Given the description of an element on the screen output the (x, y) to click on. 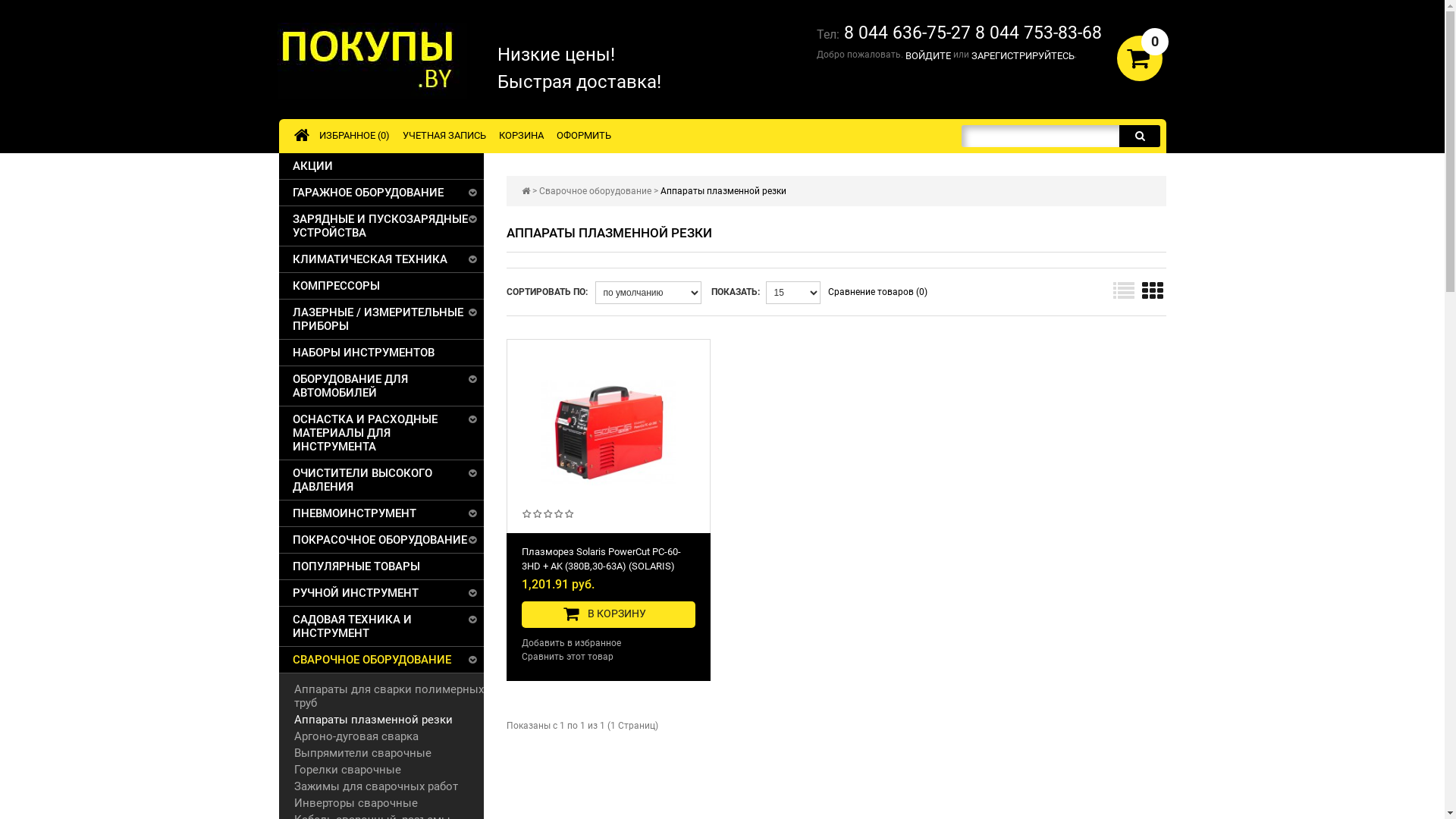
Pokupy.by Element type: hover (372, 60)
